Given the description of an element on the screen output the (x, y) to click on. 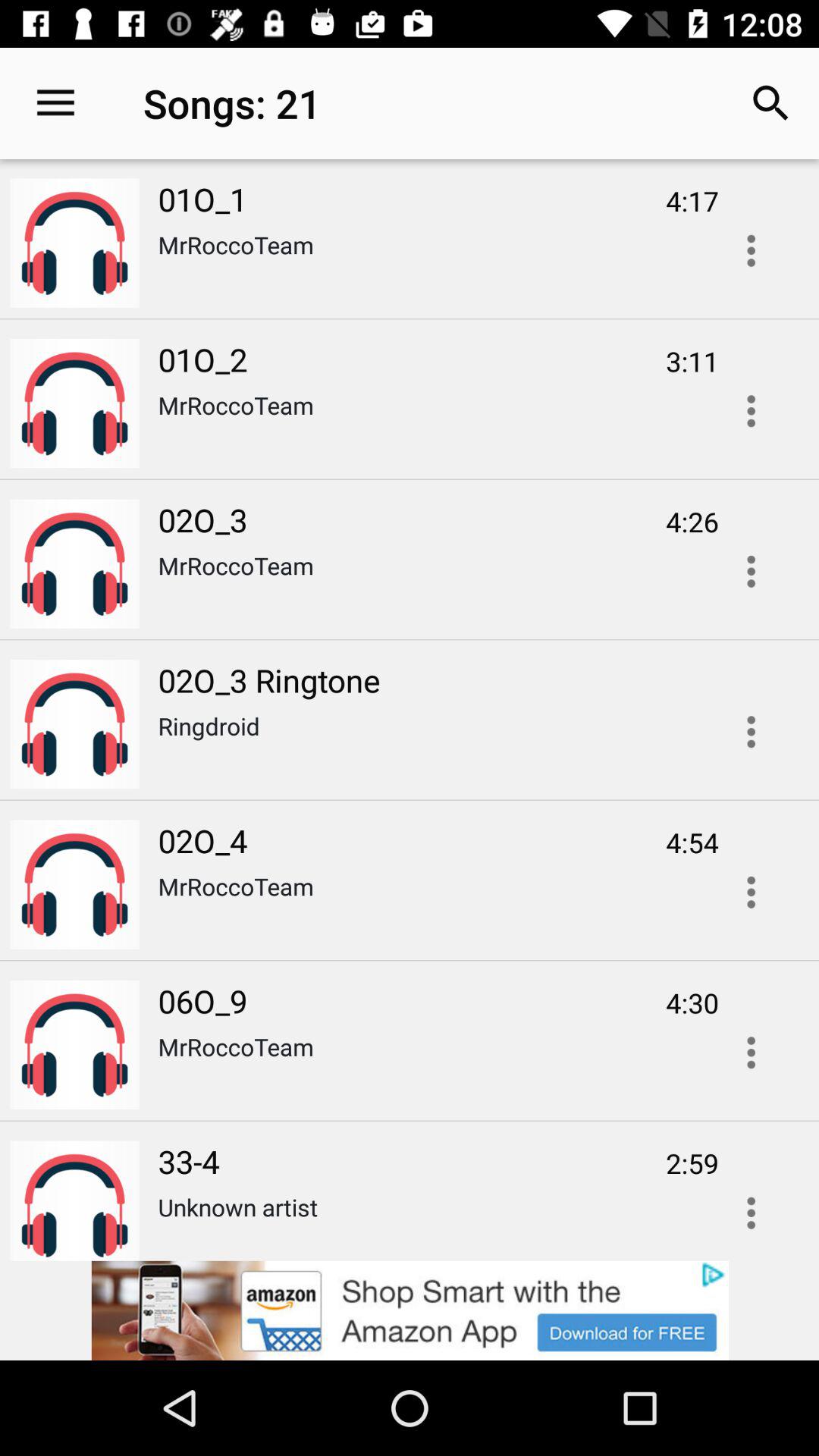
toggle drop down menu (750, 1207)
